Given the description of an element on the screen output the (x, y) to click on. 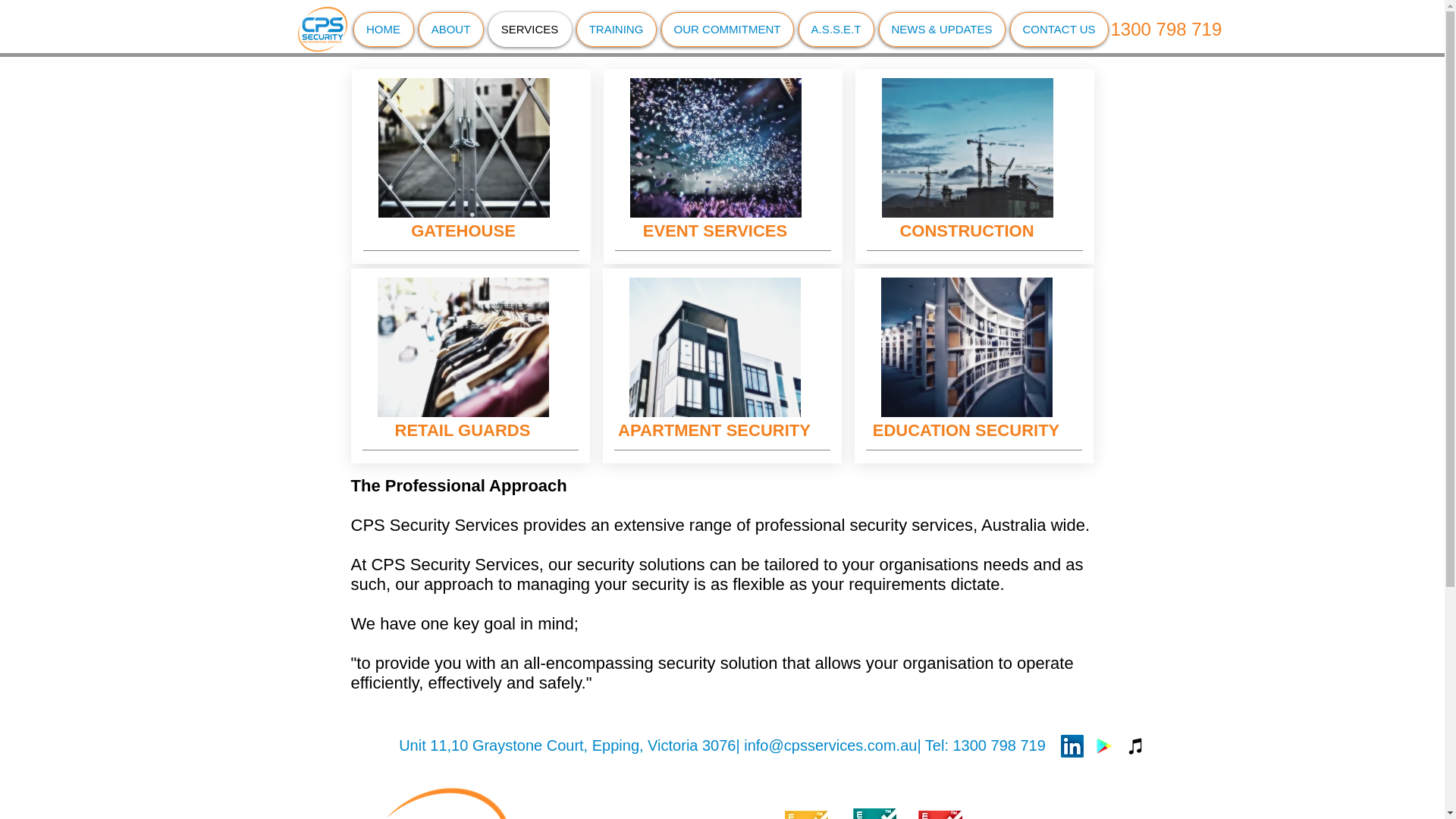
SERVICES (529, 29)
ABOUT (451, 29)
A.S.S.E.T (835, 29)
HOME (383, 29)
OUR COMMITMENT (727, 29)
1300 798 719 (1165, 29)
CONTACT US (1059, 29)
TRAINING (616, 29)
